Given the description of an element on the screen output the (x, y) to click on. 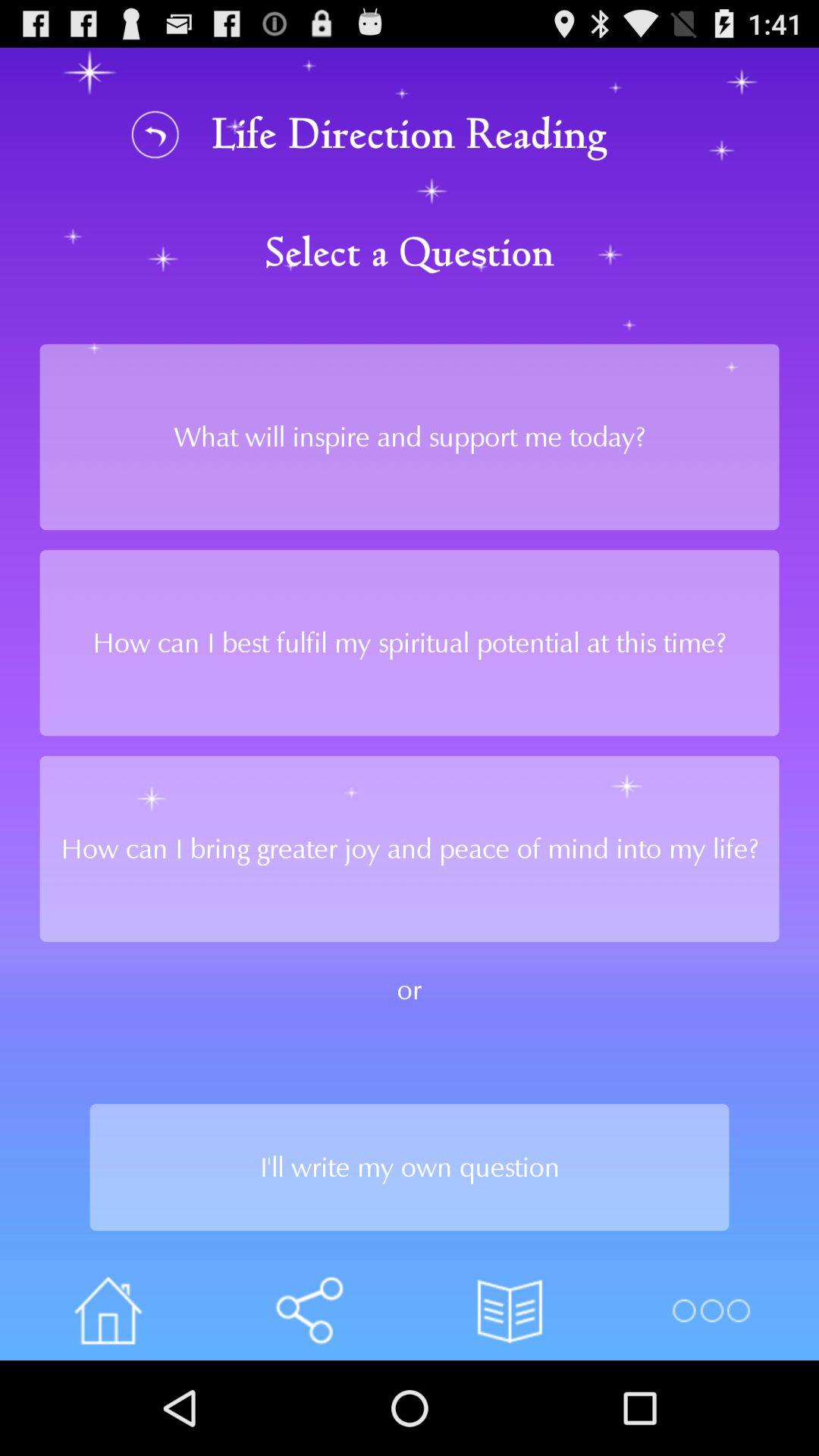
share link (308, 1310)
